Given the description of an element on the screen output the (x, y) to click on. 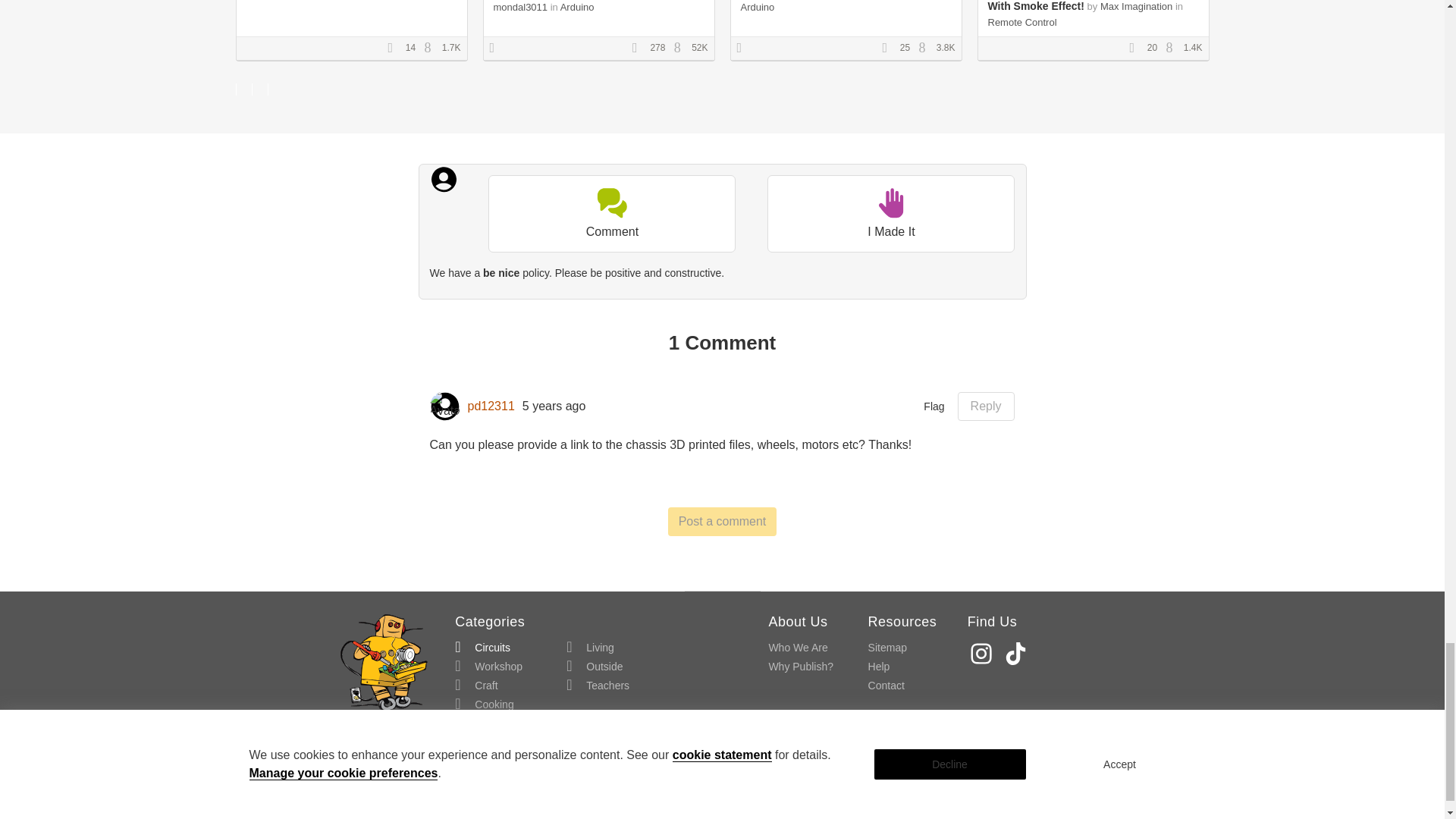
Instagram (983, 653)
Views Count (681, 48)
Views Count (925, 48)
Views Count (1173, 48)
2019-10-05 16:44:59.0 (554, 406)
Contest Winner (744, 48)
Favorites Count (1136, 48)
Favorites Count (889, 48)
Arduino (577, 7)
mondal3011 (520, 7)
Views Count (431, 48)
Favorites Count (639, 48)
Favorites Count (395, 48)
TikTok (1018, 653)
Contest Winner (497, 48)
